Given the description of an element on the screen output the (x, y) to click on. 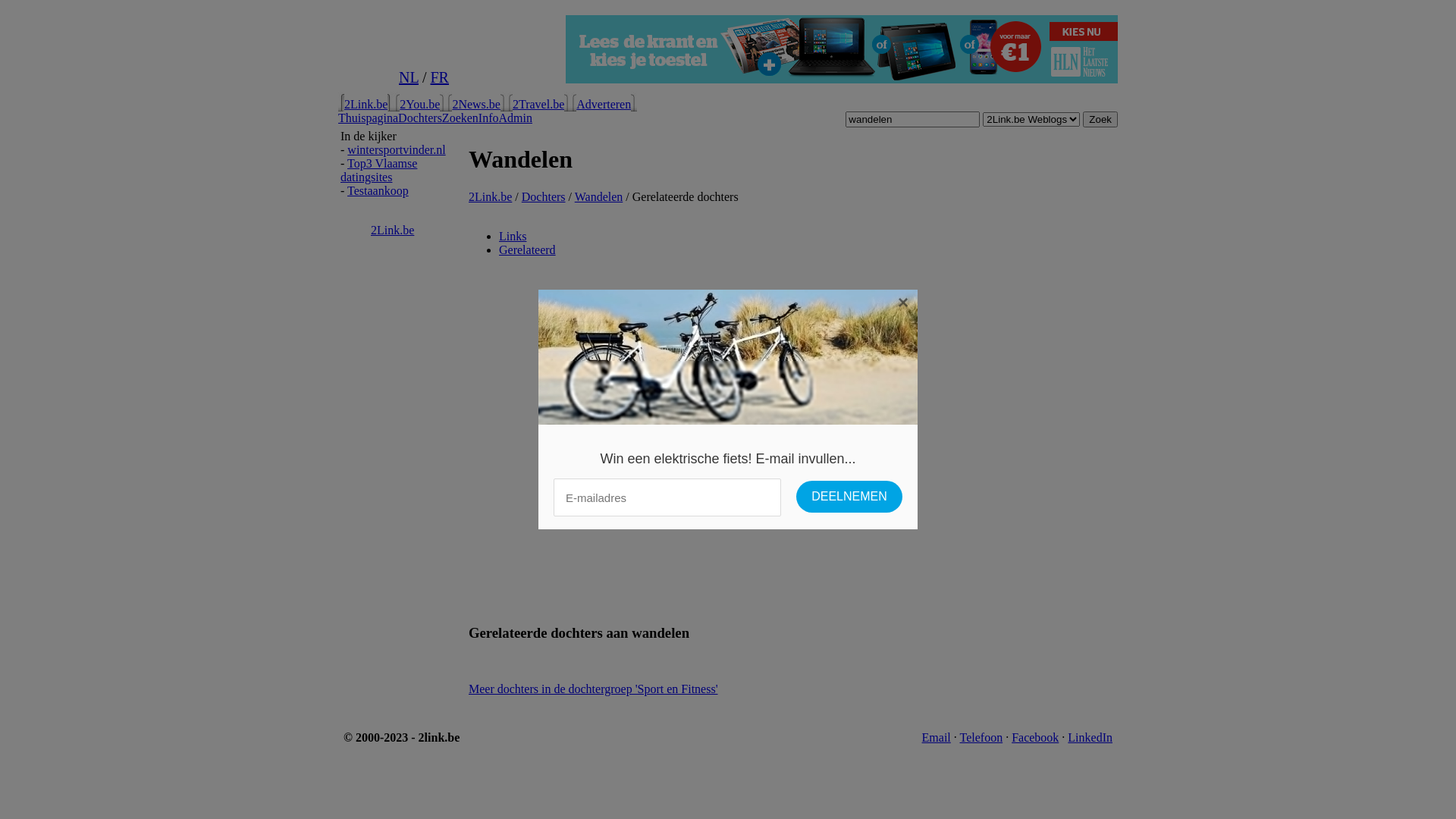
Meer dochters in de dochtergroep 'Sport en Fitness' Element type: text (593, 688)
Dochters Element type: text (420, 117)
Email Element type: text (936, 737)
LinkedIn Element type: text (1089, 737)
2News.be Element type: text (475, 103)
Admin Element type: text (515, 117)
Links Element type: text (512, 235)
wintersportvinder.nl Element type: text (396, 149)
Zoek Element type: text (1099, 119)
Gerelateerd Element type: text (526, 249)
Thuispagina Element type: text (368, 117)
Adverteren Element type: text (603, 103)
Testaankoop Element type: text (377, 190)
Top3 Vlaamse datingsites Element type: text (378, 169)
Wandelen Element type: text (598, 196)
2Link.be Element type: text (392, 229)
Info Element type: text (488, 117)
Facebook Element type: text (1034, 737)
Zoeken Element type: text (460, 117)
2You.be Element type: text (419, 103)
FR Element type: text (438, 77)
2Link.be Element type: text (365, 103)
2Travel.be Element type: text (538, 103)
Dochters Element type: text (543, 196)
Telefoon Element type: text (981, 737)
NL Element type: text (408, 77)
2Link.be Element type: text (489, 196)
